Given the description of an element on the screen output the (x, y) to click on. 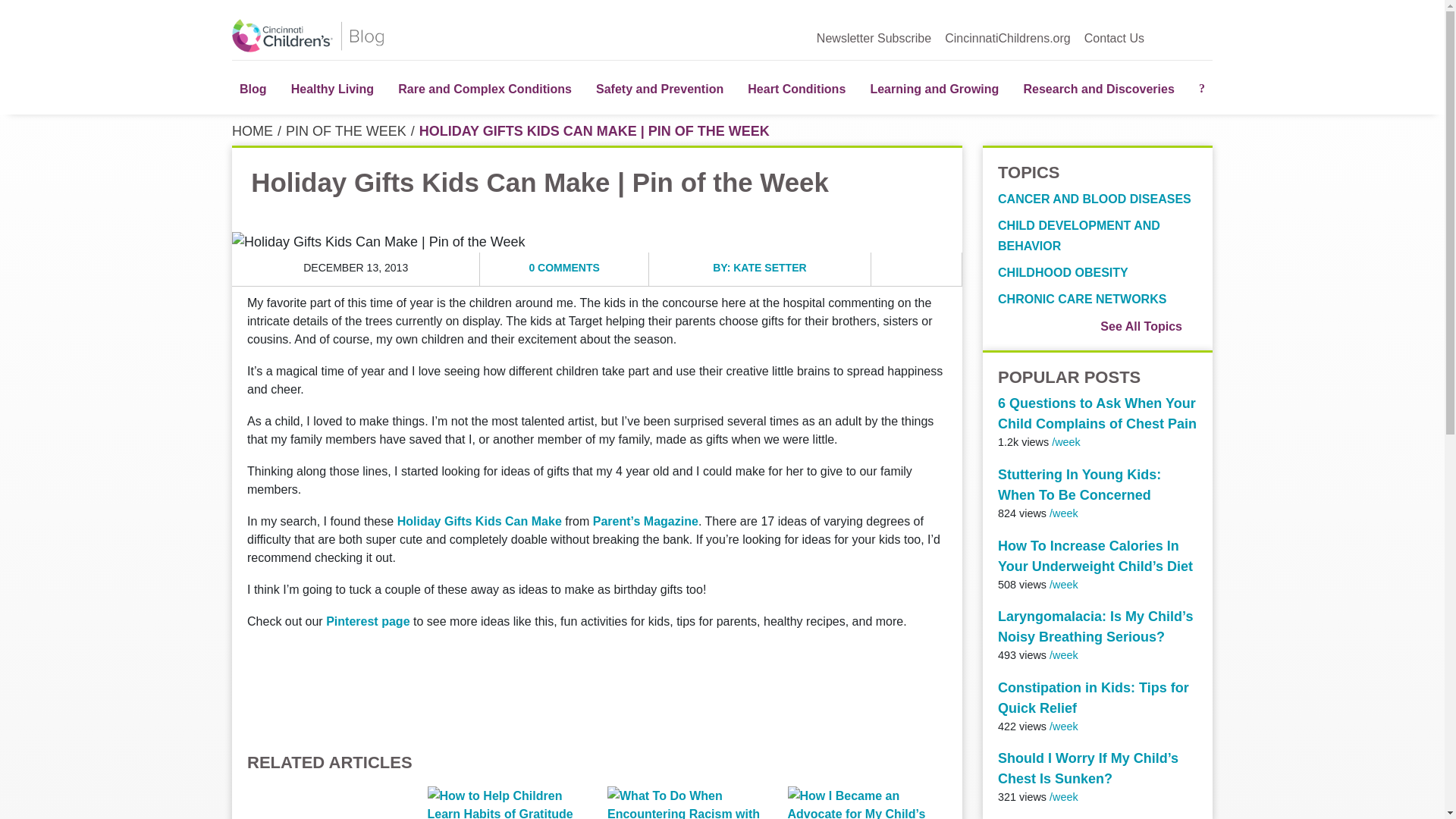
Blog (253, 87)
? (1201, 87)
Rare and Complex Conditions (484, 87)
Newsletter Subscribe (873, 37)
Holiday Gifts Kids Can Make (479, 520)
PIN OF THE WEEK (345, 130)
Heart Conditions (796, 87)
Contact Us (1114, 37)
Research and Discoveries (1097, 87)
Learning and Growing (933, 87)
Kid-made gift ideas from Parents Magazine. (479, 520)
Parents Magazine online. (645, 520)
Safety and Prevention (659, 87)
View Cincinnati Children's Pinterest page. (367, 621)
CincinnatiChildrens.org (1007, 37)
